Given the description of an element on the screen output the (x, y) to click on. 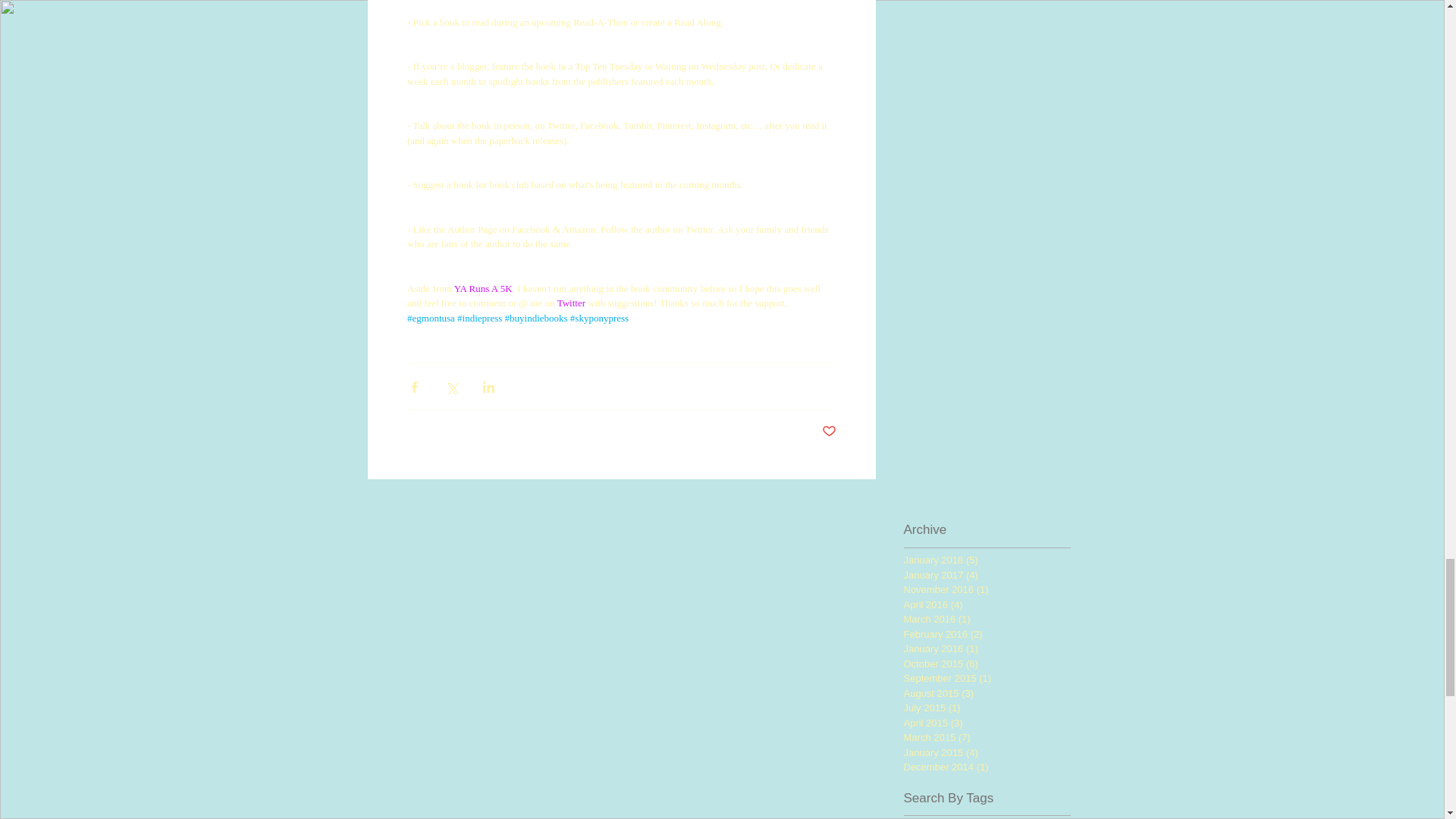
Twitter (570, 302)
Post not marked as liked (828, 431)
YA Runs A 5K (482, 288)
